Given the description of an element on the screen output the (x, y) to click on. 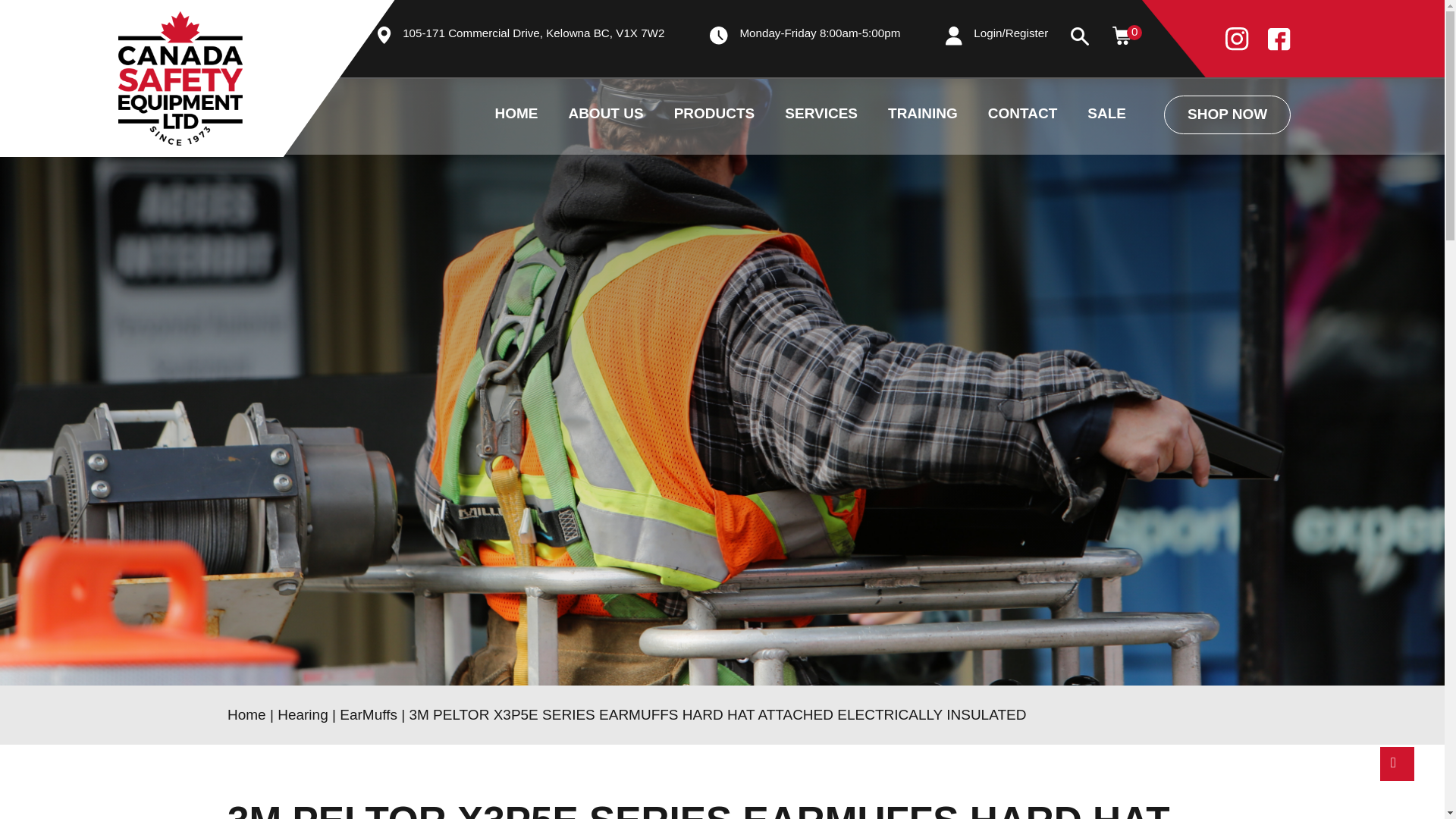
PRODUCTS (714, 115)
ABOUT US (605, 115)
SALE (1106, 39)
SALE (1106, 115)
SHOP NOW (1226, 37)
ABOUT US (605, 39)
Go to Canada Safety. (246, 714)
0 (1121, 34)
Home (246, 714)
HOME (516, 39)
PRODUCTS (714, 39)
Go to the EarMuffs Category archives. (368, 714)
SERVICES (820, 115)
Hearing (303, 714)
